Given the description of an element on the screen output the (x, y) to click on. 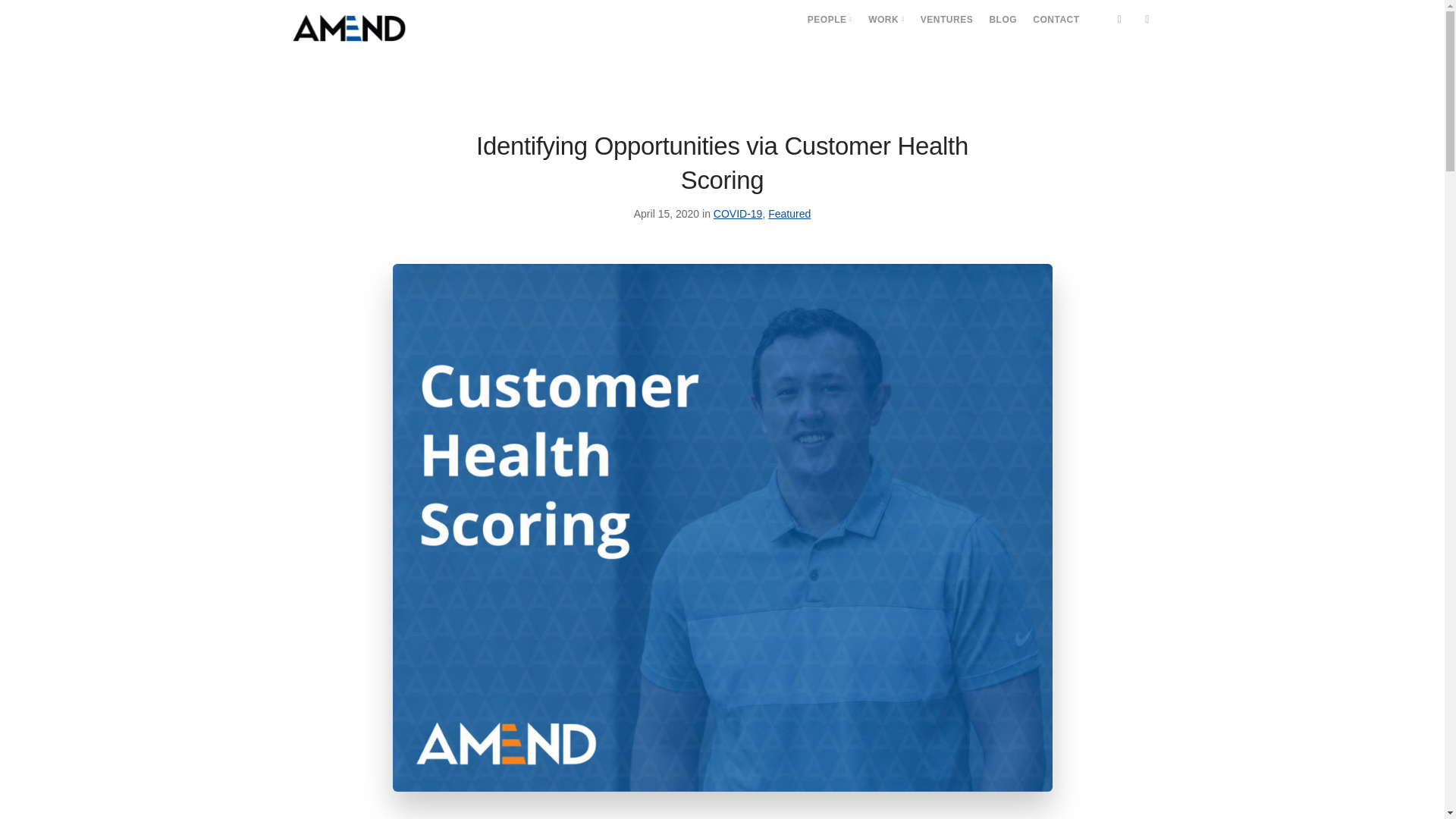
Featured (789, 214)
CONTACT (1055, 19)
COVID-19 (737, 214)
VENTURES (946, 19)
BLOG (1002, 19)
